Given the description of an element on the screen output the (x, y) to click on. 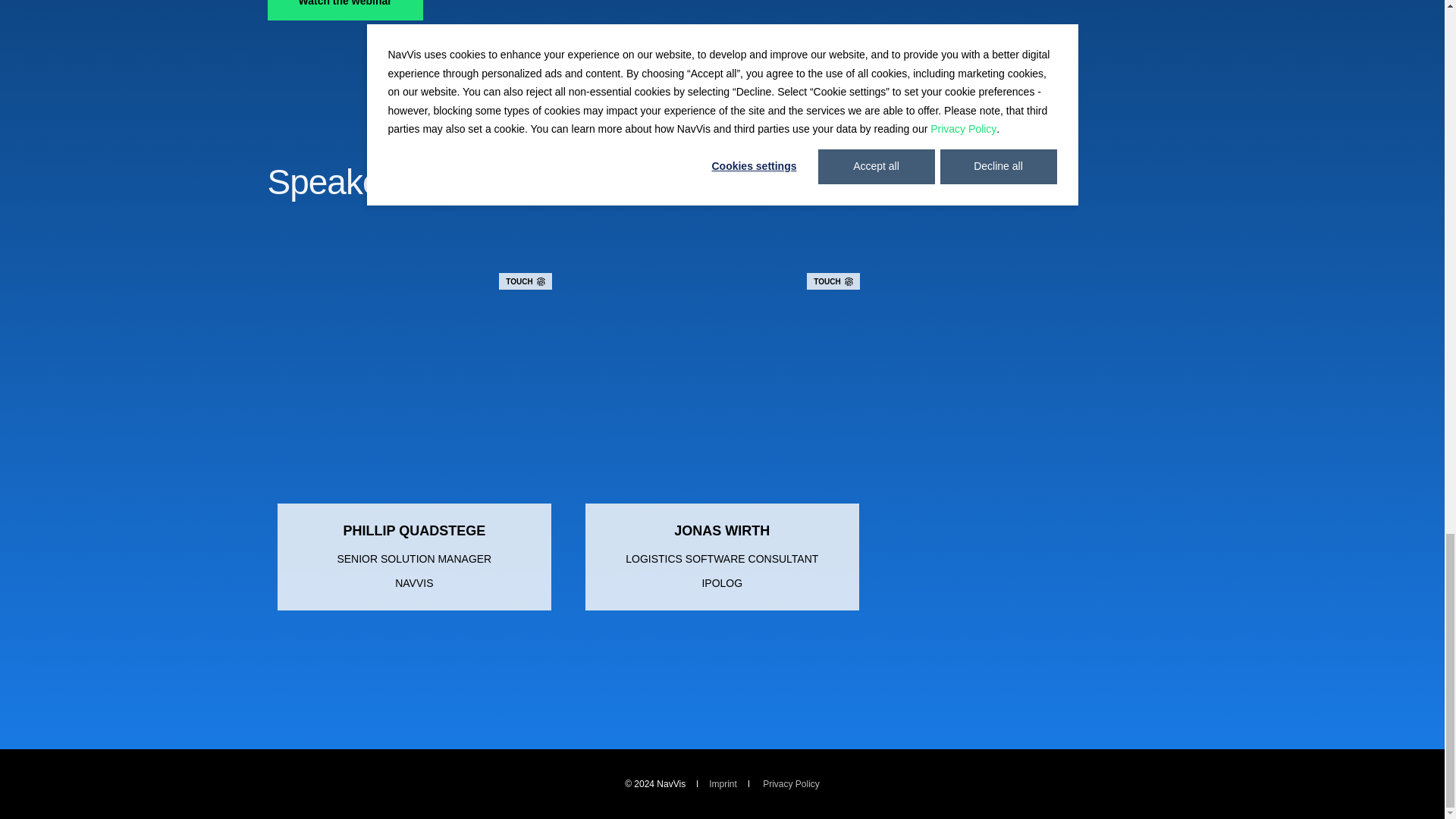
Watch the webinar (344, 10)
Imprint (722, 783)
Watch the webinar (344, 10)
Privacy Policy (790, 783)
